Given the description of an element on the screen output the (x, y) to click on. 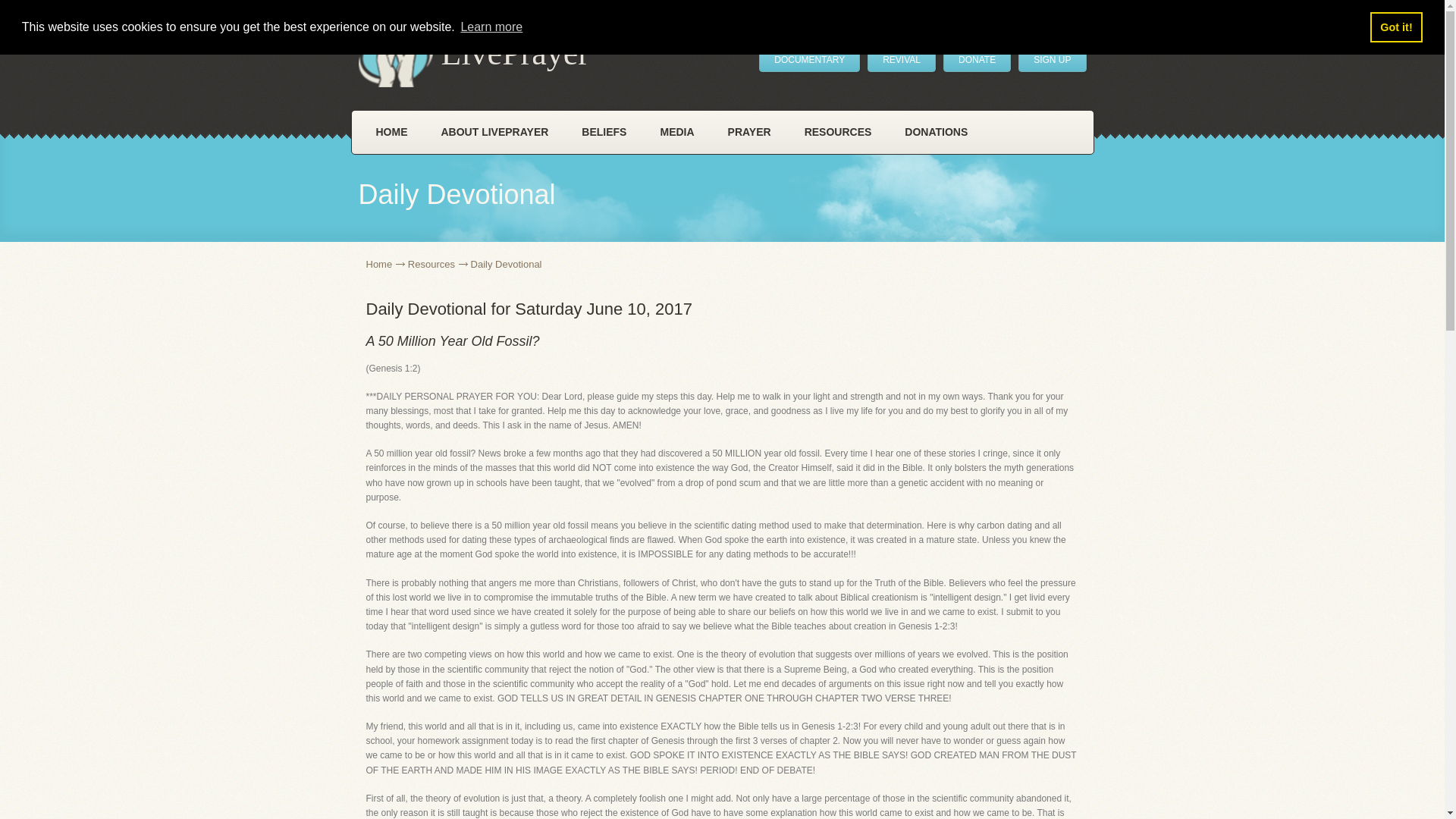
ABOUT LIVEPRAYER (495, 131)
MEDIA (676, 131)
Got it! (1396, 27)
LivePrayer (473, 56)
DONATE (976, 59)
HOME (392, 131)
Learn more (491, 26)
DOCUMENTARY (809, 59)
BELIEFS (603, 131)
Home (384, 264)
REVIVAL (901, 59)
Resources (437, 264)
SIGN UP (1051, 59)
